Given the description of an element on the screen output the (x, y) to click on. 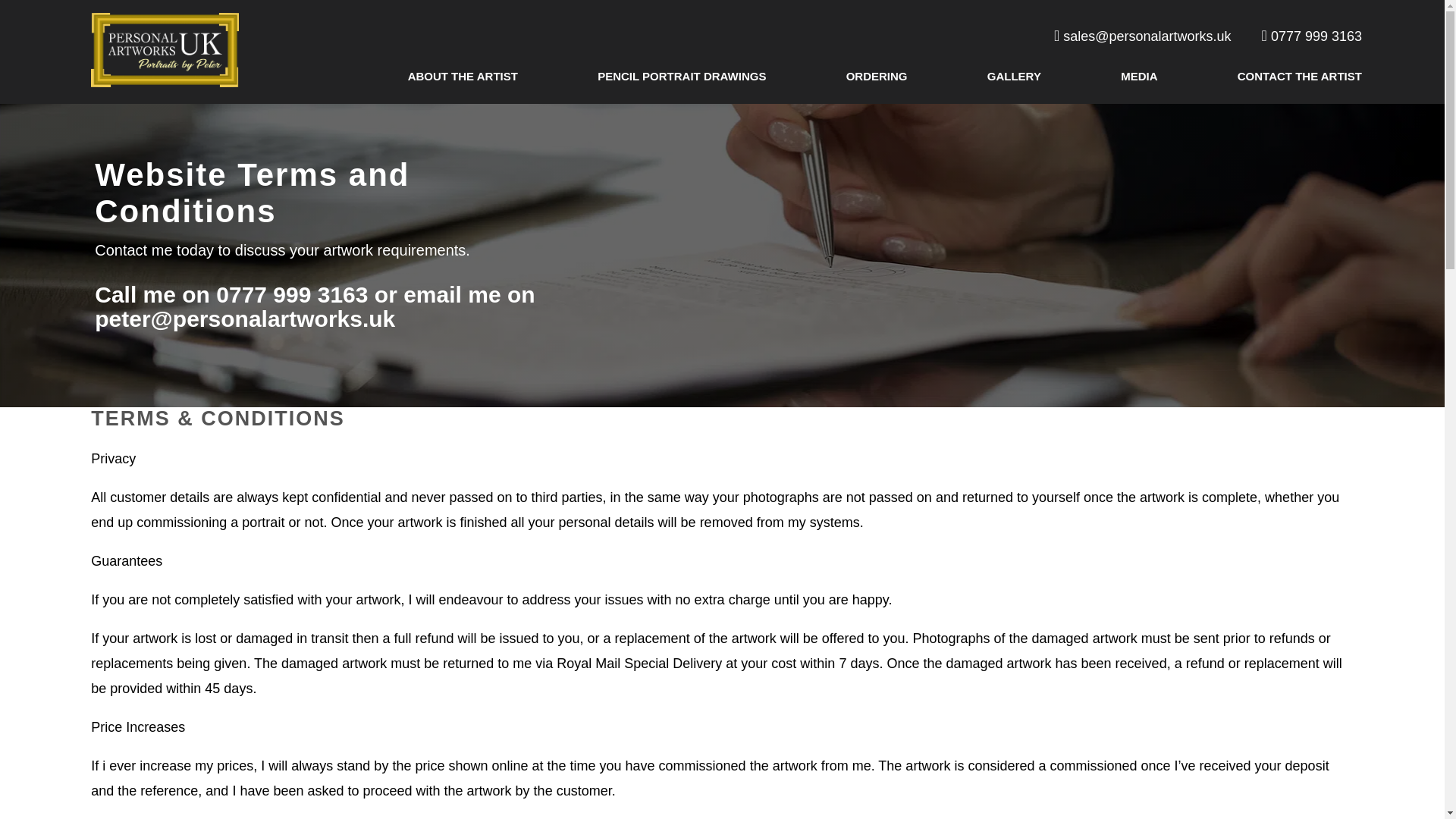
0777 999 3163 (1311, 36)
ORDERING (876, 66)
PENCIL PORTRAIT DRAWINGS (680, 66)
GALLERY (1014, 66)
ABOUT THE ARTIST (462, 66)
